Given the description of an element on the screen output the (x, y) to click on. 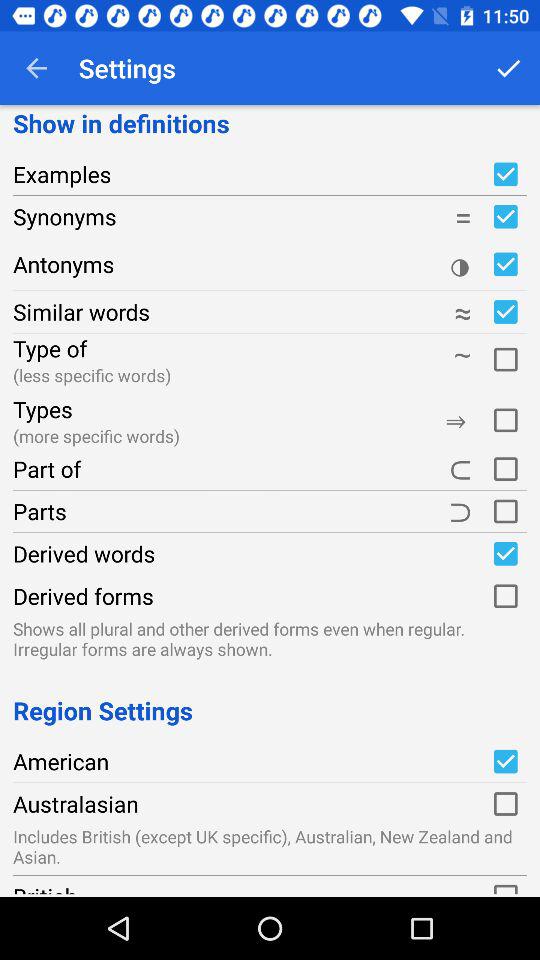
toggle derived words on or off (505, 553)
